Given the description of an element on the screen output the (x, y) to click on. 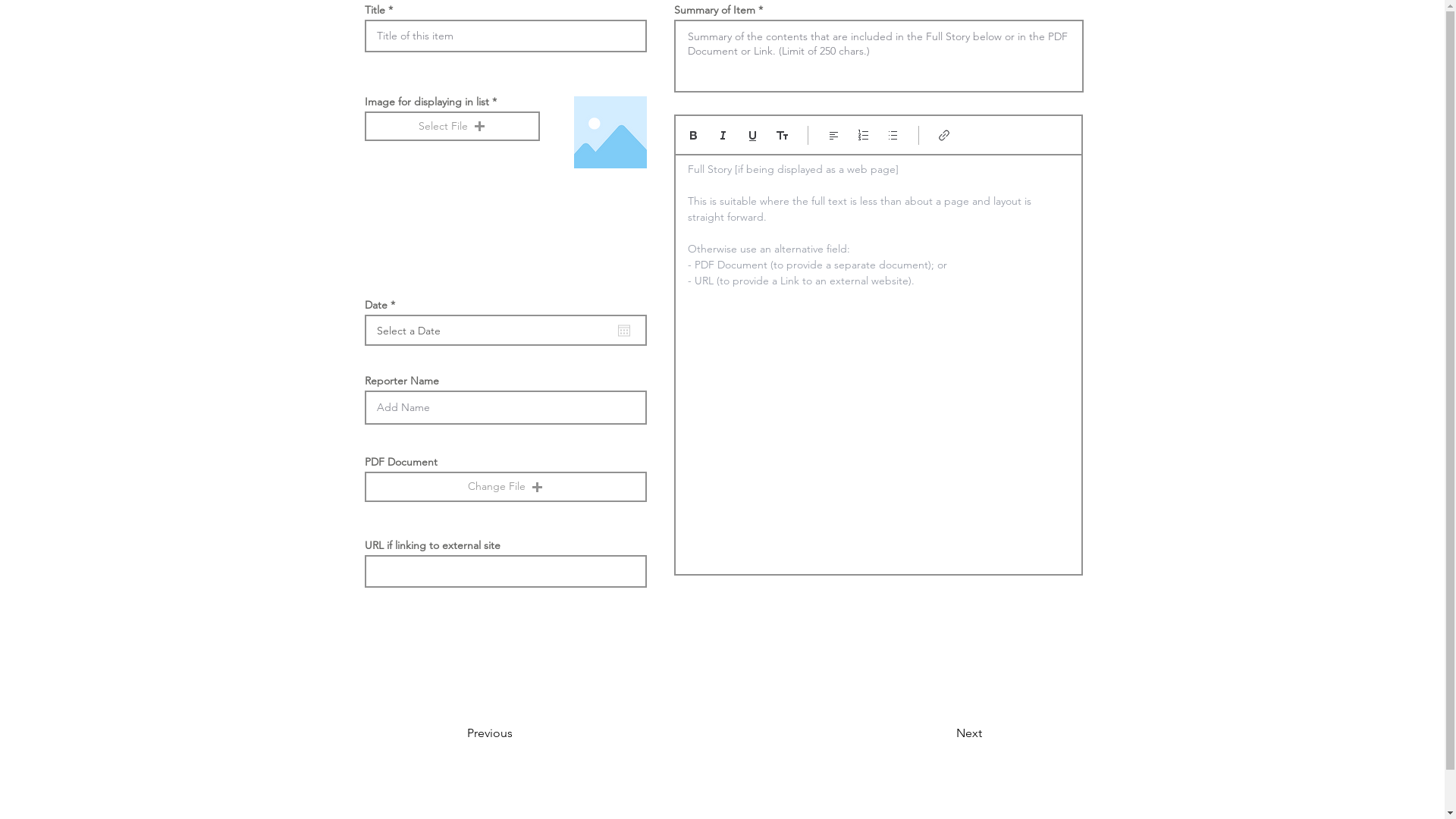
Previous Element type: text (517, 733)
Next Element type: text (943, 733)
